Given the description of an element on the screen output the (x, y) to click on. 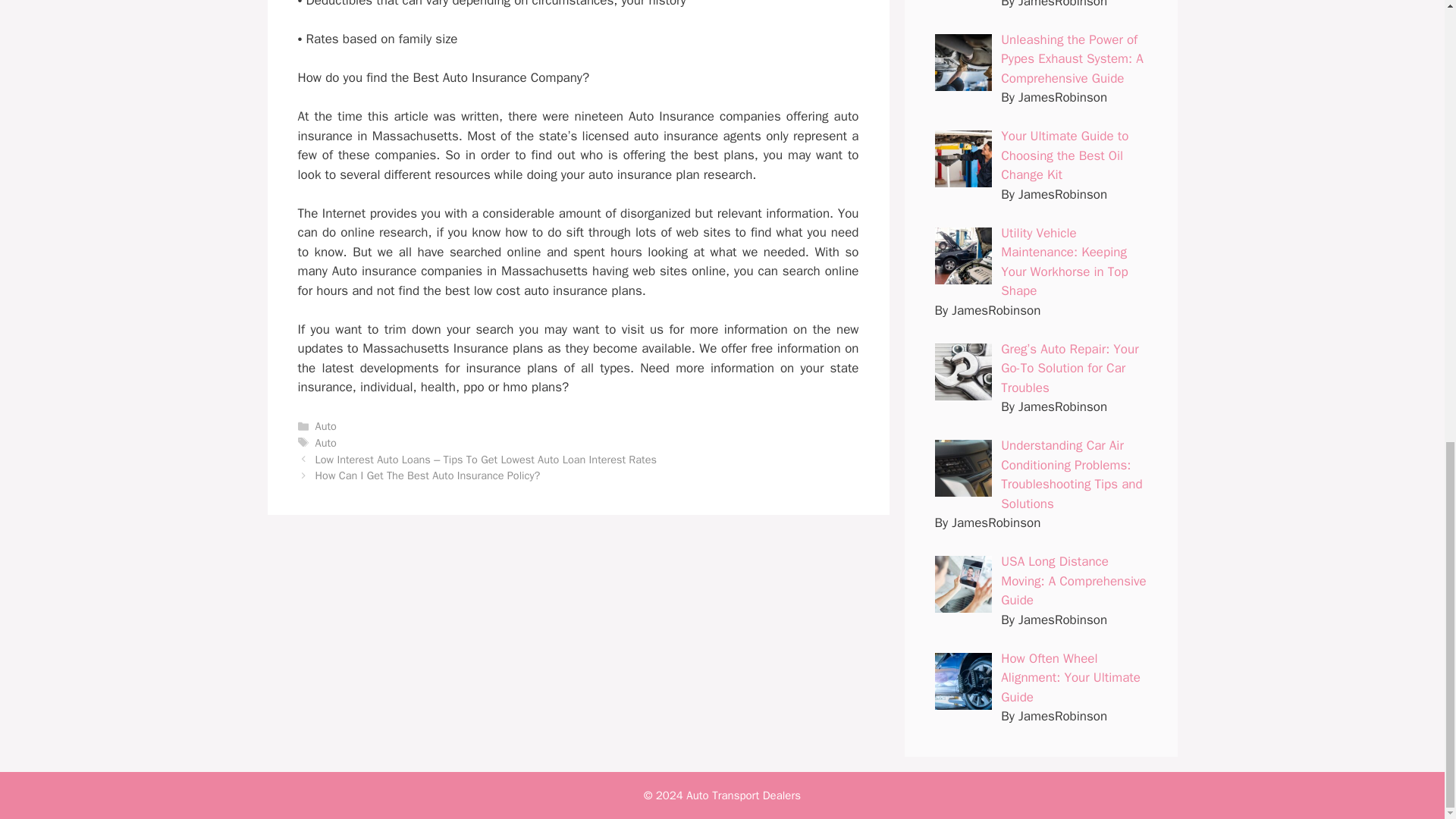
Auto (325, 442)
USA Long Distance Moving: A Comprehensive Guide (1074, 580)
How Can I Get The Best Auto Insurance Policy? (427, 475)
How Often Wheel Alignment: Your Ultimate Guide (1070, 677)
Your Ultimate Guide to Choosing the Best Oil Change Kit (1064, 154)
Auto (325, 426)
